Given the description of an element on the screen output the (x, y) to click on. 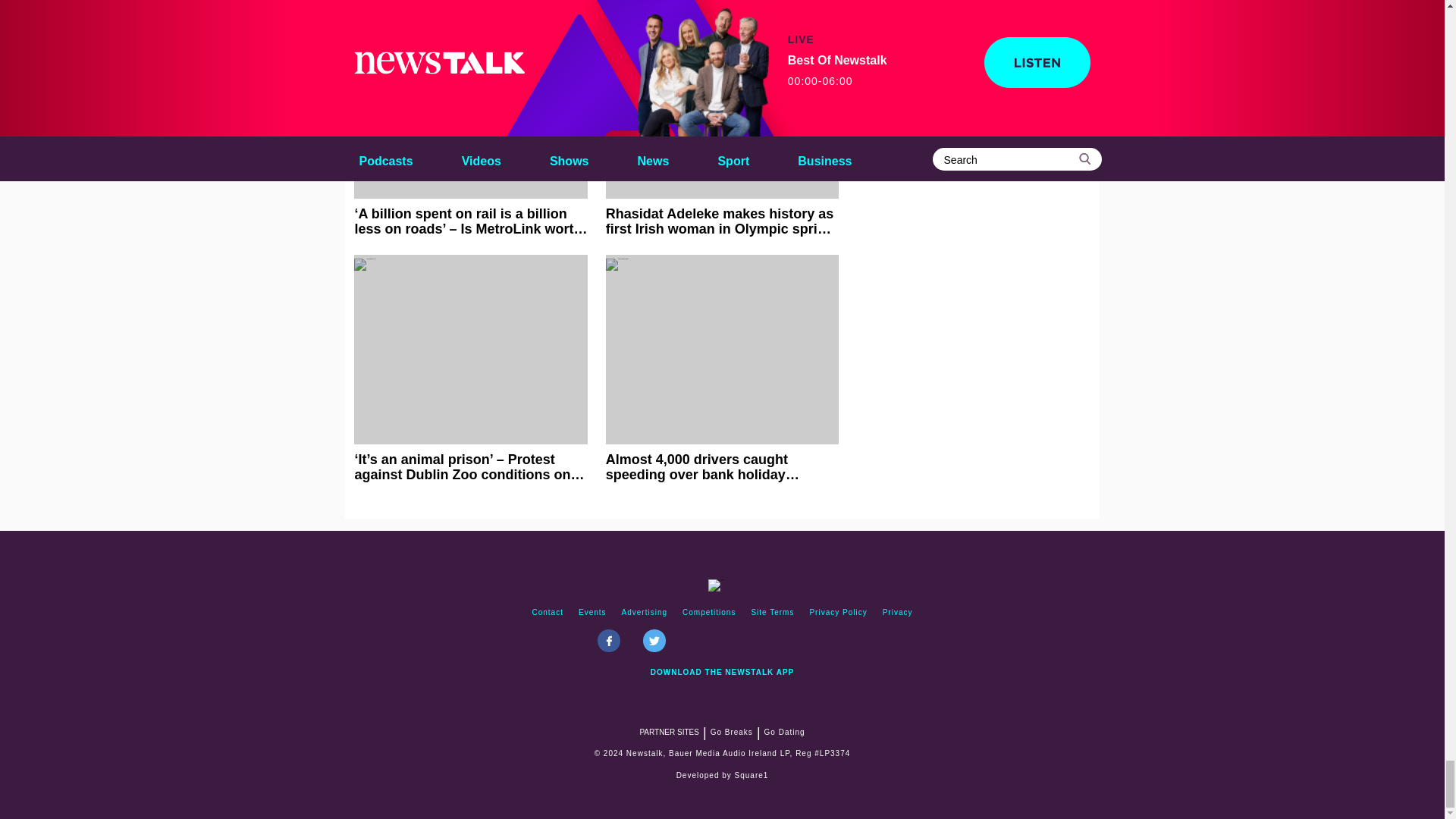
site terms (772, 612)
events (592, 612)
Privacy Policy (838, 612)
advertising (644, 612)
Privacy (897, 612)
contact (547, 612)
competitions (708, 612)
